Given the description of an element on the screen output the (x, y) to click on. 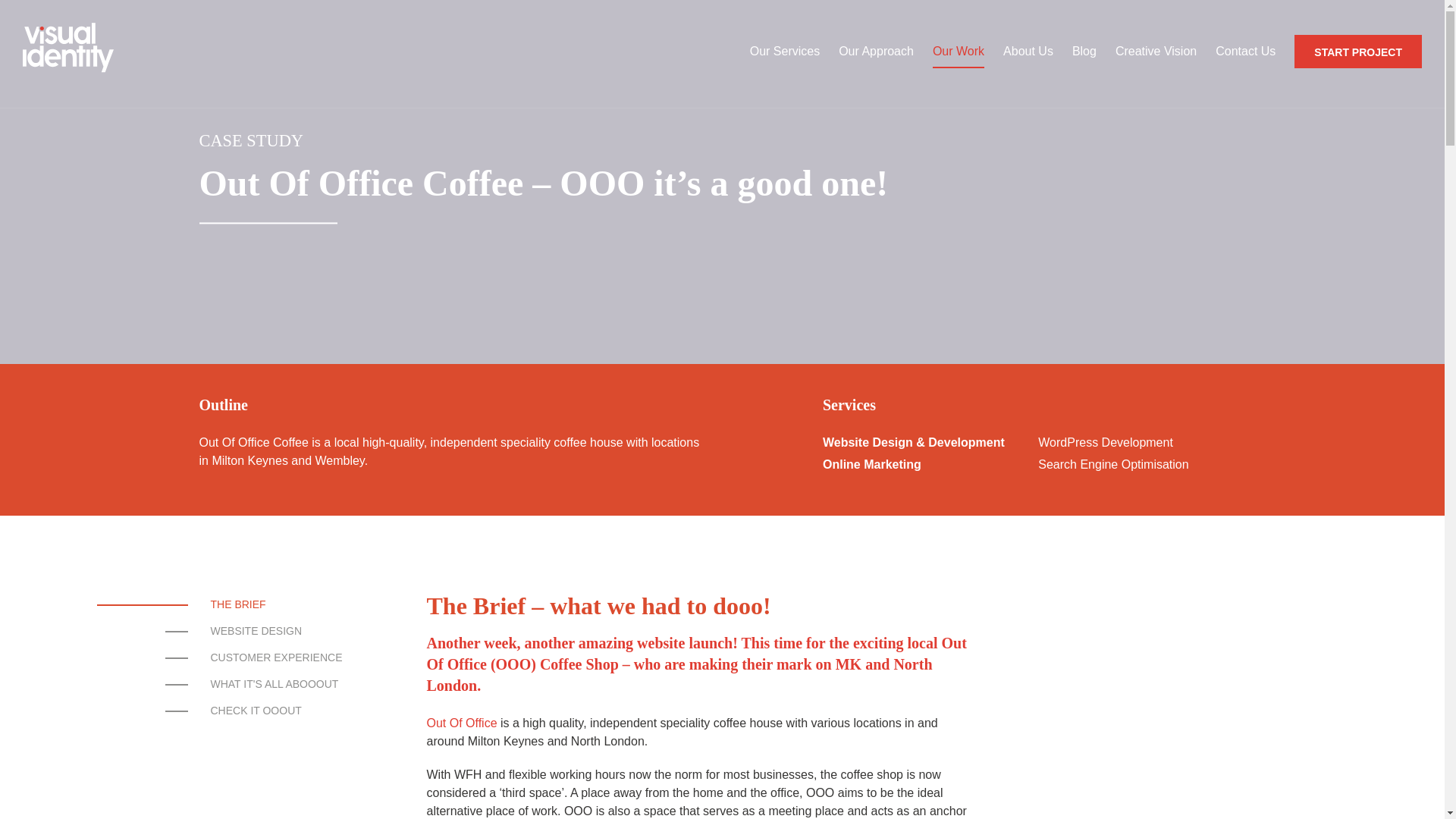
THE BRIEF (275, 604)
Online Marketing (871, 463)
Creative Vision (1155, 51)
CUSTOMER EXPERIENCE (275, 657)
WHAT IT'S ALL ABOOOUT (275, 683)
Our Services (784, 51)
Out Of Office (461, 722)
Our Approach (876, 51)
Visual Identity (79, 53)
CHECK IT OOOUT (275, 710)
